Given the description of an element on the screen output the (x, y) to click on. 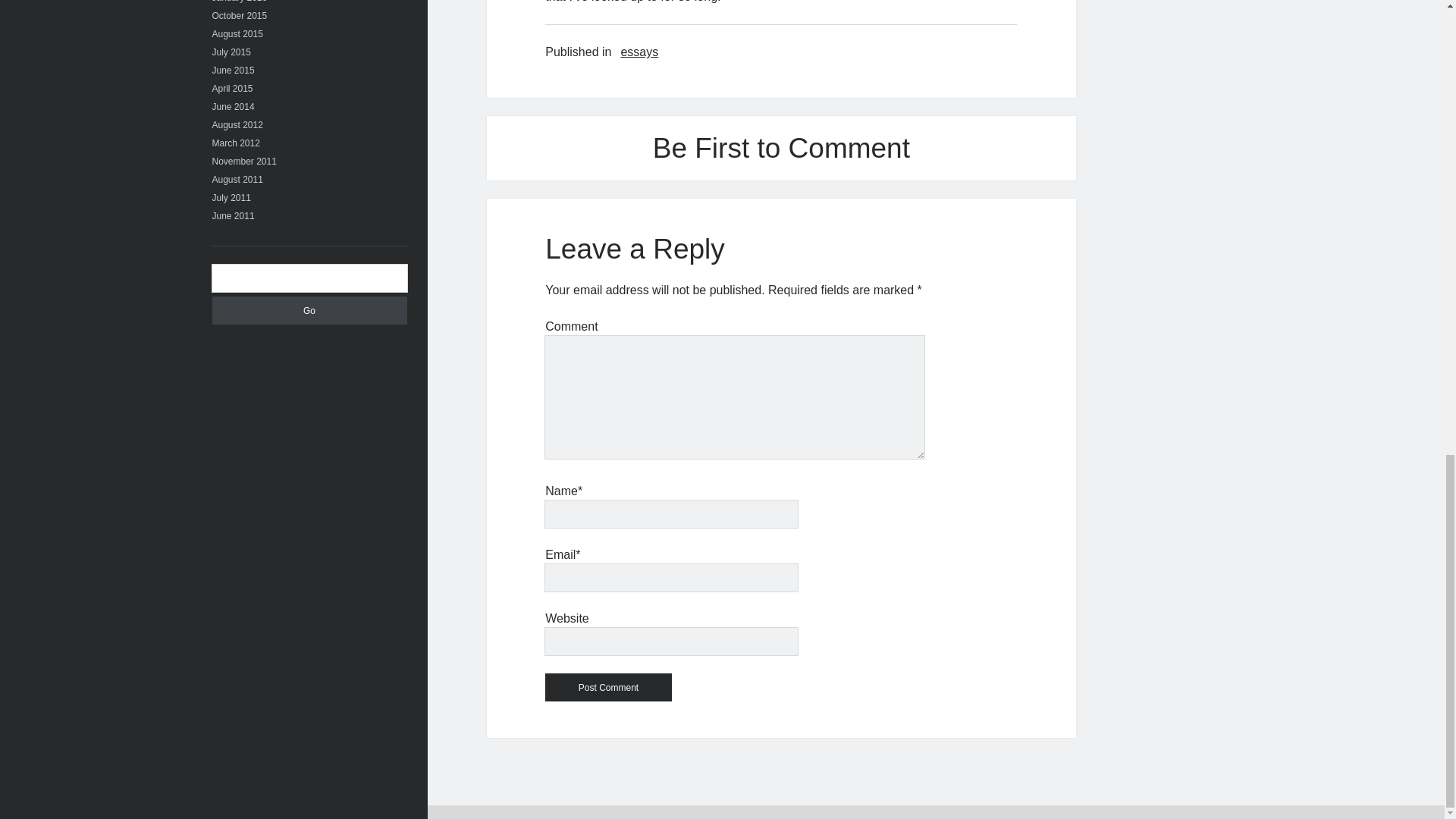
April 2015 (232, 88)
June 2015 (233, 70)
View all posts in essays (639, 52)
Go (309, 310)
October 2015 (239, 15)
August 2012 (237, 124)
Go (309, 310)
Search for: (309, 277)
June 2014 (233, 106)
Post Comment (607, 687)
